Given the description of an element on the screen output the (x, y) to click on. 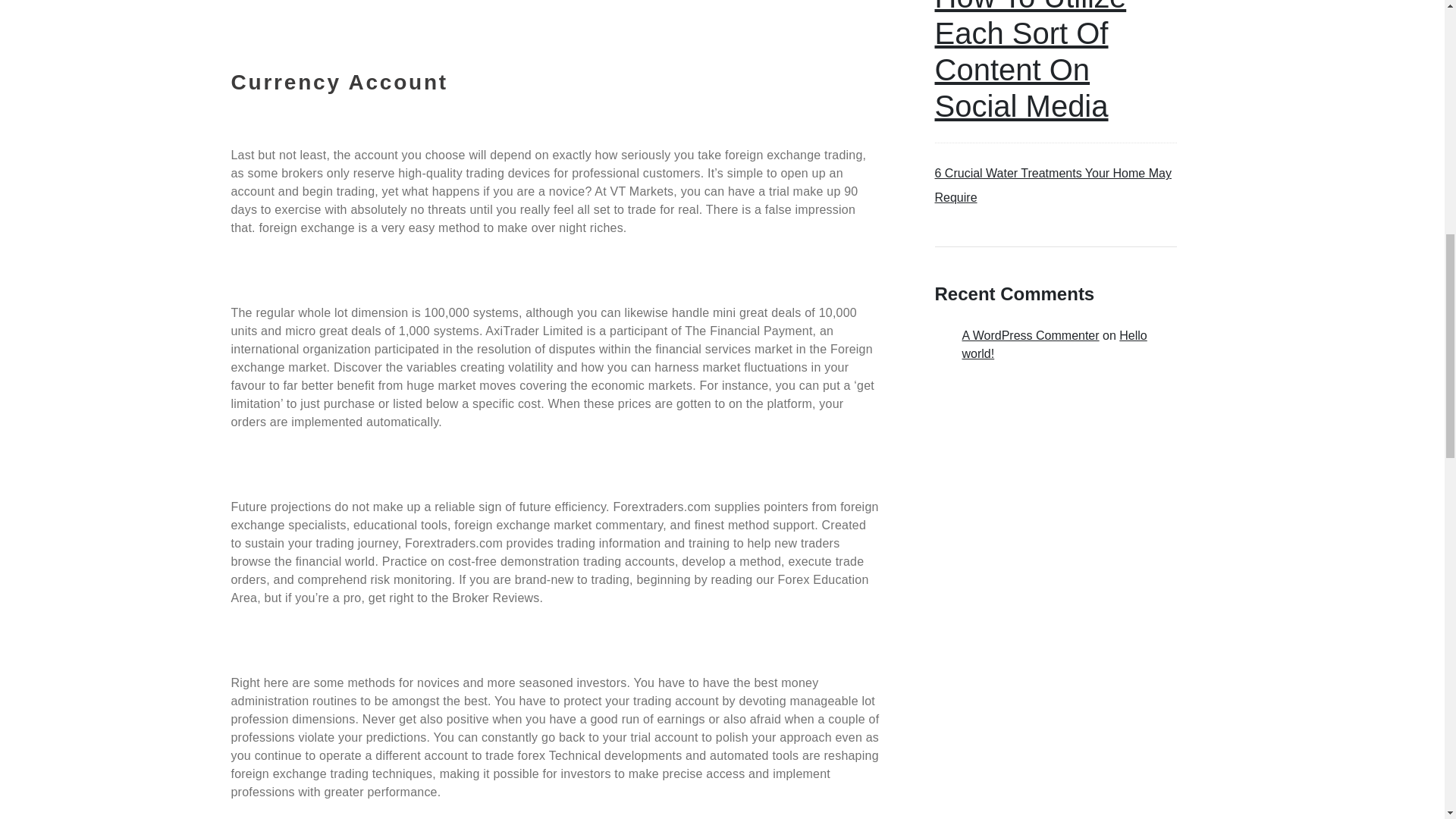
A WordPress Commenter (1029, 335)
6 Crucial Water Treatments Your Home May Require (1052, 185)
Hello world! (1053, 344)
